Given the description of an element on the screen output the (x, y) to click on. 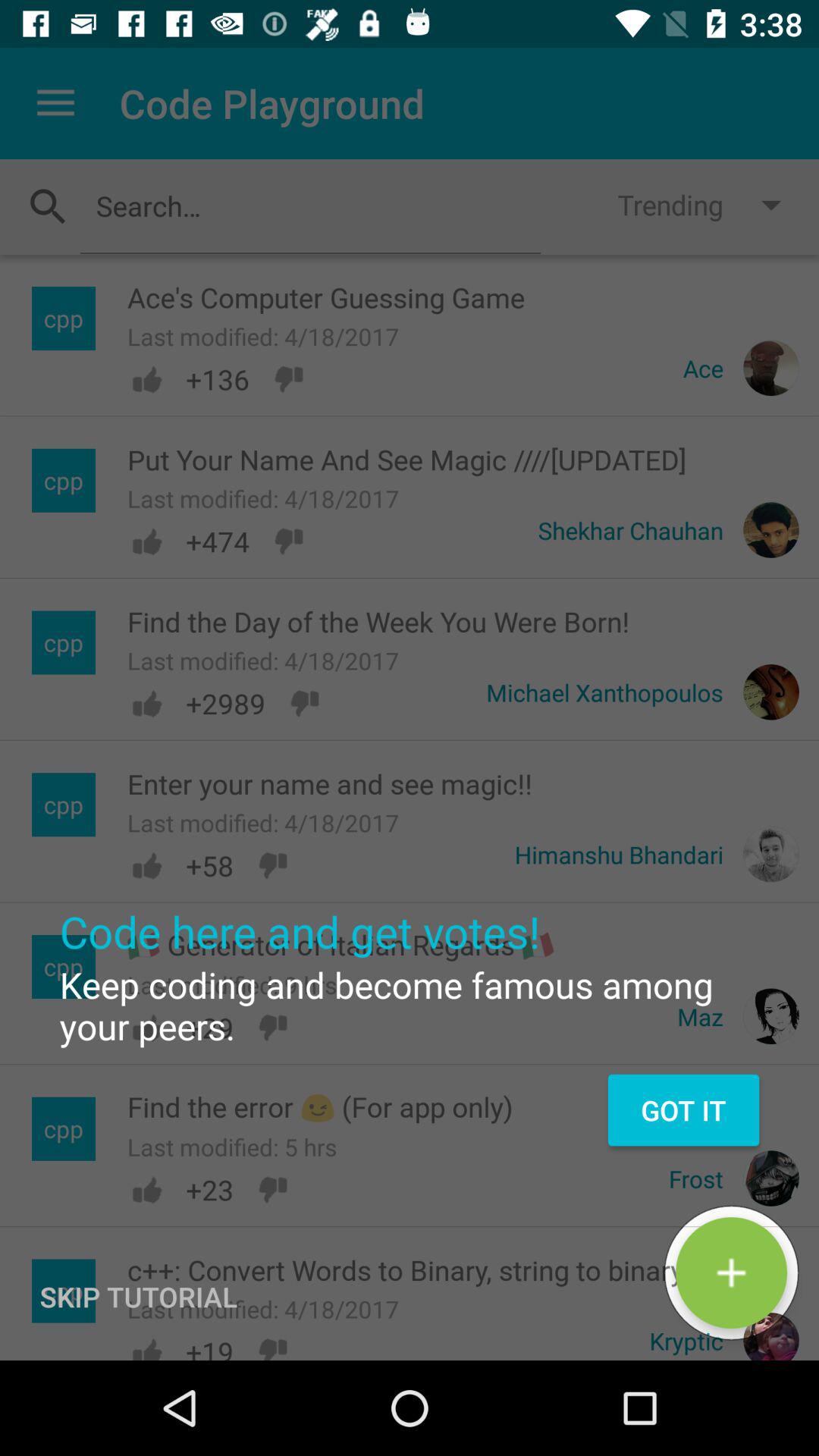
enter search term (310, 205)
